Given the description of an element on the screen output the (x, y) to click on. 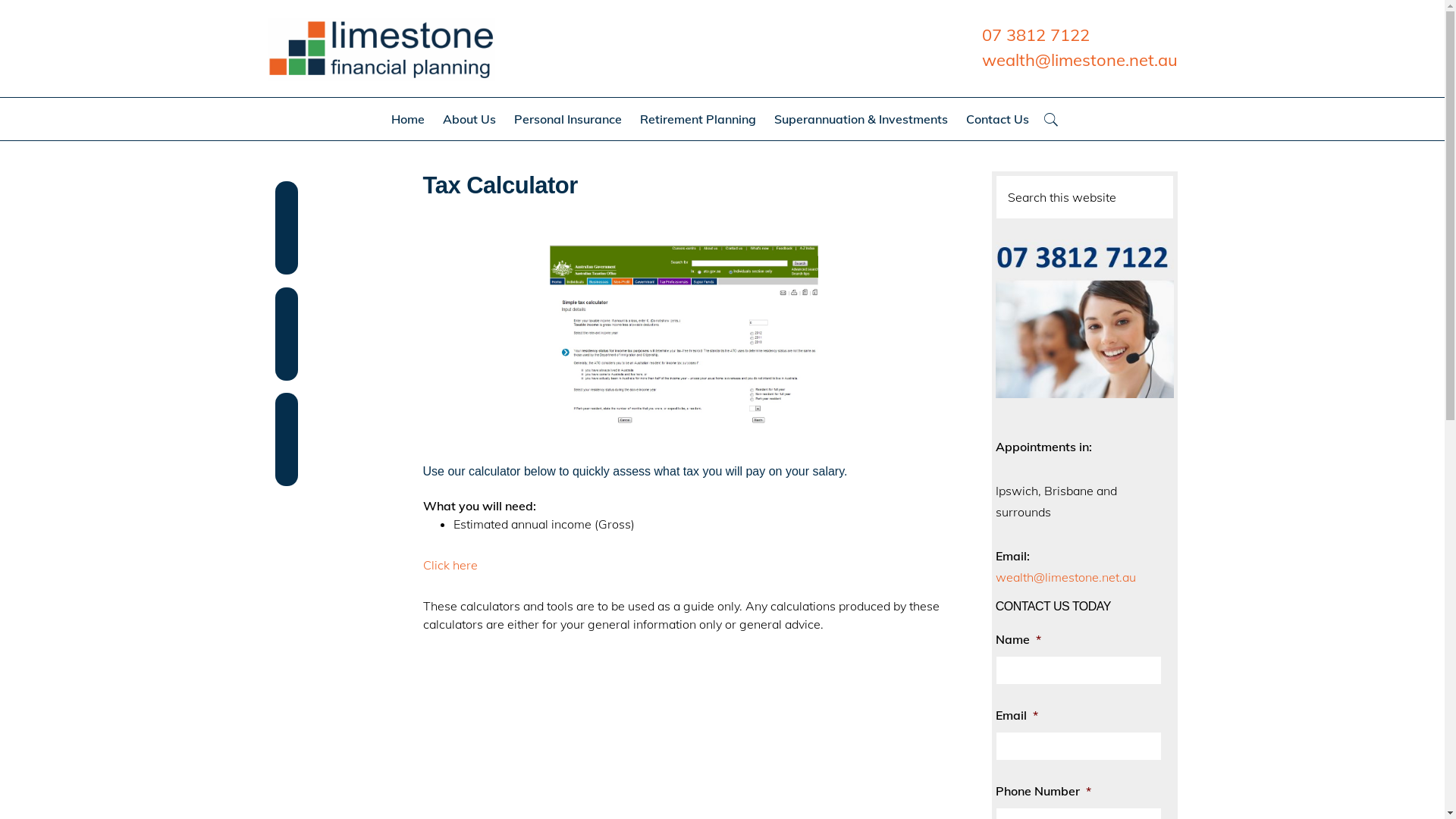
HOME Element type: text (520, 791)
ABOUT US Element type: text (565, 791)
Retirement Planning Element type: text (697, 118)
Tax Calculator Element type: hover (683, 335)
wealth@limestone.net.au Element type: text (1065, 576)
LIMESTONE FINANCIAL PLANNING Element type: text (380, 49)
About Us Element type: text (469, 118)
Skip to primary navigation Element type: text (0, 0)
wealth@limestone.net.au Element type: text (1078, 59)
INSURANCE Element type: text (617, 791)
CONTACT US Element type: text (913, 791)
Search Element type: text (1173, 174)
Personal Insurance Element type: text (567, 118)
RETIREMENT PLANNING Element type: text (695, 791)
07 3812 7122 Element type: text (1034, 34)
Contact Us Element type: text (997, 118)
Show Search Element type: text (1049, 118)
Home Element type: text (407, 118)
SUPERANNUATION & INVESTMENTS Element type: text (814, 791)
Superannuation & Investments Element type: text (859, 118)
Click here Element type: text (450, 564)
